Given the description of an element on the screen output the (x, y) to click on. 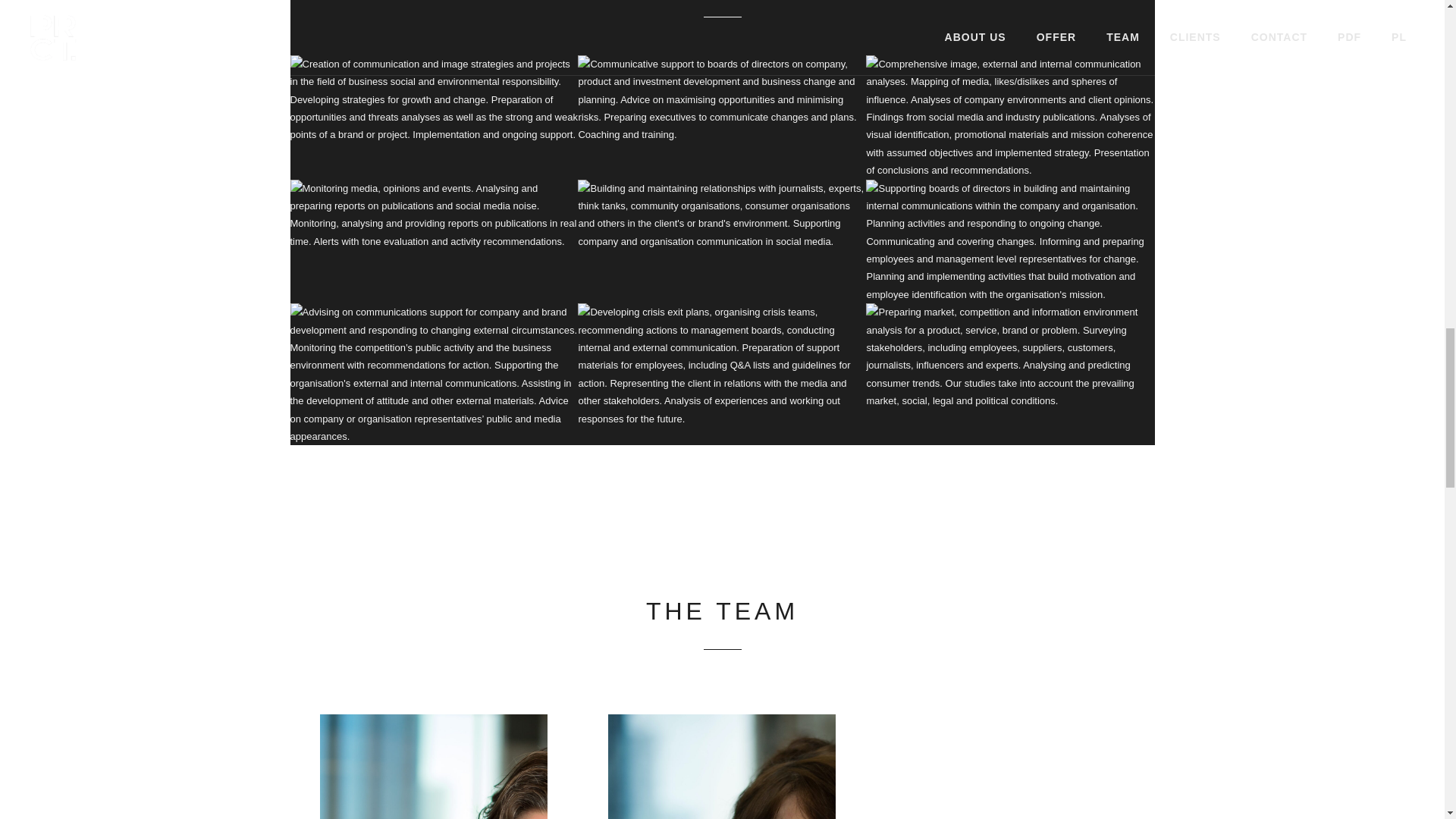
SUPPORTING BOARDS AND MIDDLE MANAGEMENT (722, 117)
INTERNAL COMMUNICATION (1010, 241)
ONGOING ADVICE (433, 374)
EXTERNAL COMMUNICATION, MEDIA AND ENVIRONMENT RELATIONS (722, 241)
CRISIS COMMUNICATION (722, 374)
MARKET ENVIRONMENT ANALYSIS (1010, 374)
COMMUNICATION, IMAGE-MAKING AND CSR STRATEGIES (433, 117)
MONITORING OF INFORMATION AND OPINIONS (433, 241)
COMMUNICATION AND IMAGE AUDITS (1010, 117)
